Given the description of an element on the screen output the (x, y) to click on. 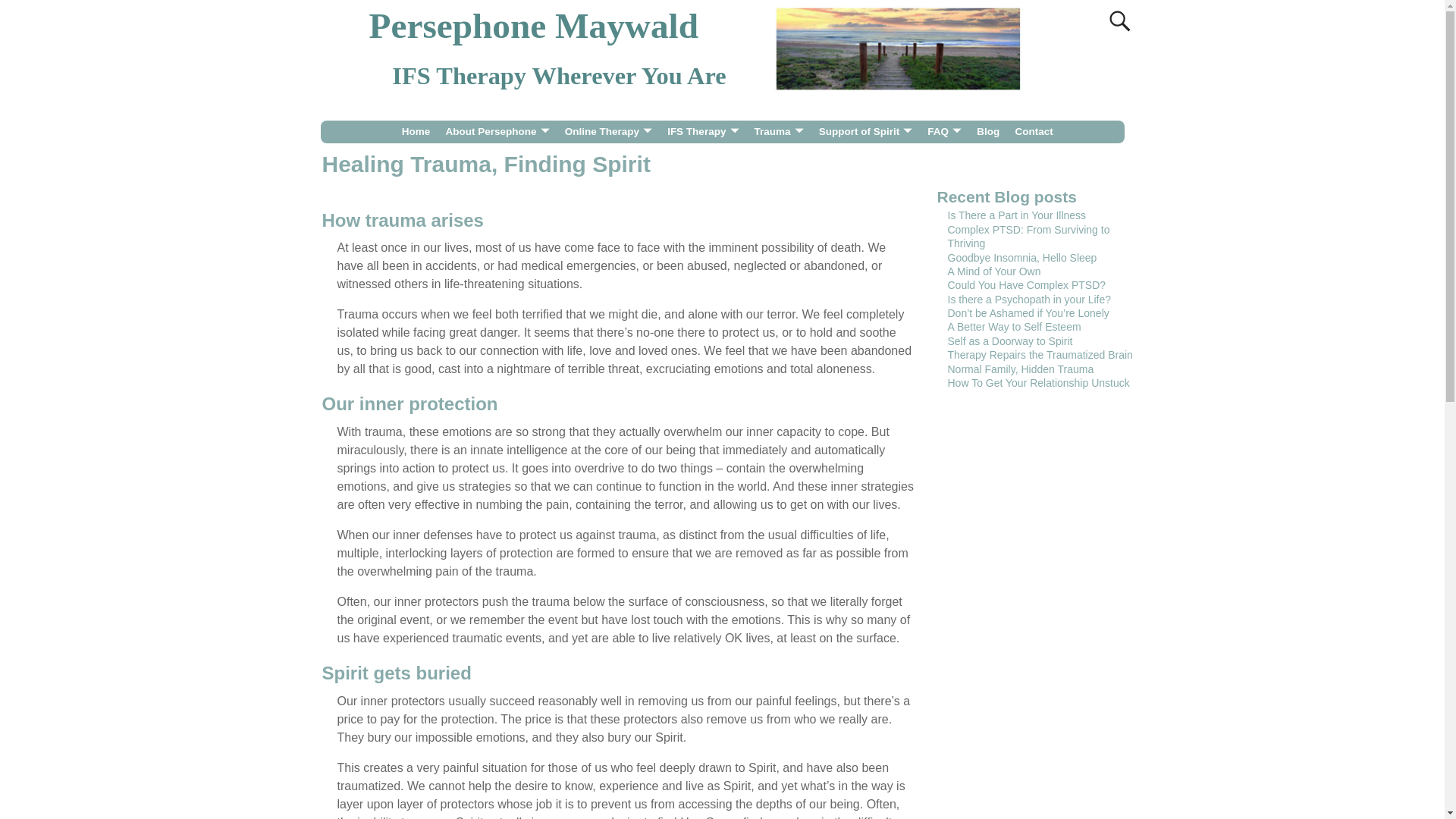
Contact (1034, 131)
Complex PTSD: From Surviving to Thriving (1028, 236)
IFS Therapy (702, 131)
Persephone Maywald (534, 25)
A Mind of Your Own (994, 271)
Self as a Doorway to Spirit (1010, 340)
Could You Have Complex PTSD? (1026, 285)
Online Therapy (608, 131)
Blog (988, 131)
Online Therapy (497, 131)
FAQ (944, 131)
Normal Family, Hidden Trauma (1020, 369)
Is There a Part in Your Illness (1016, 215)
Support of Spirit (865, 131)
Contact (1034, 131)
